Given the description of an element on the screen output the (x, y) to click on. 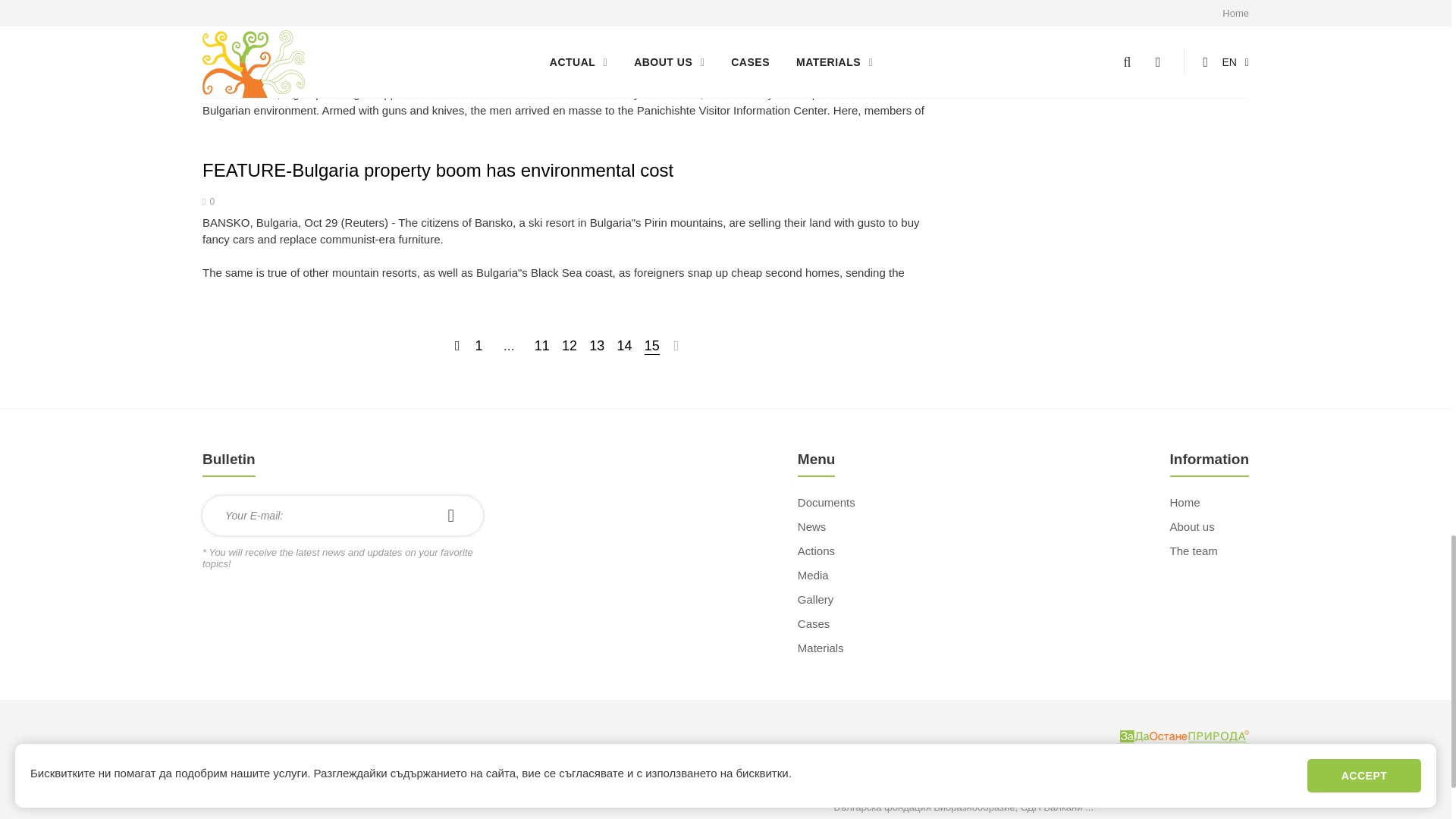
11 (542, 346)
13 (596, 346)
FEATURE-Bulgaria property boom has environmental cost (437, 169)
12 (569, 346)
